Given the description of an element on the screen output the (x, y) to click on. 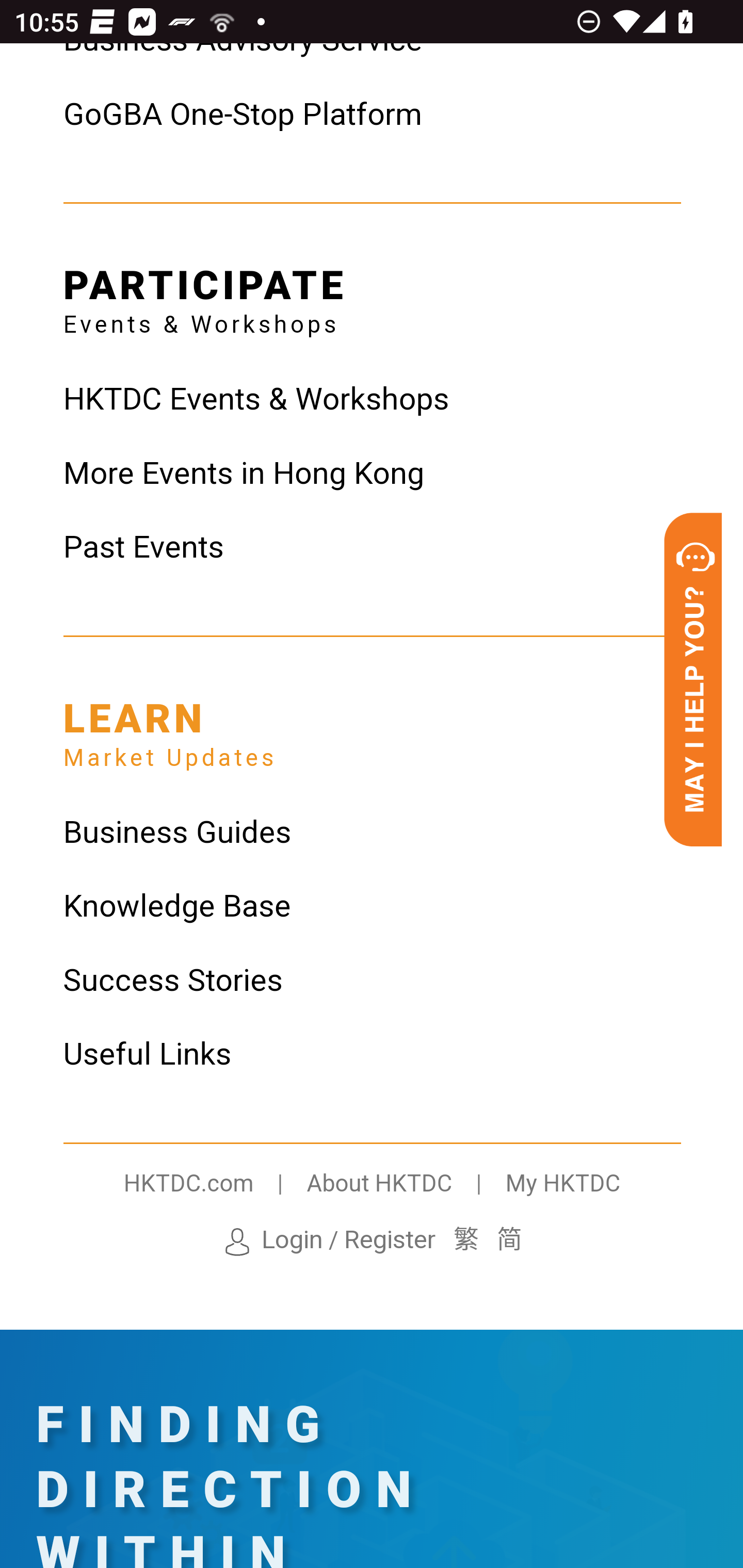
PARTICIPATE Events & Workshops (204, 295)
LEARN Market Updates (169, 728)
Business Guides (371, 833)
Knowledge Base (371, 907)
Success Stories (371, 981)
Useful Links (371, 1055)
HKTDC.com |  HKTDC.com  |  (214, 1185)
About HKTDC |  About HKTDC  |  (404, 1185)
My HKTDC (562, 1185)
